Given the description of an element on the screen output the (x, y) to click on. 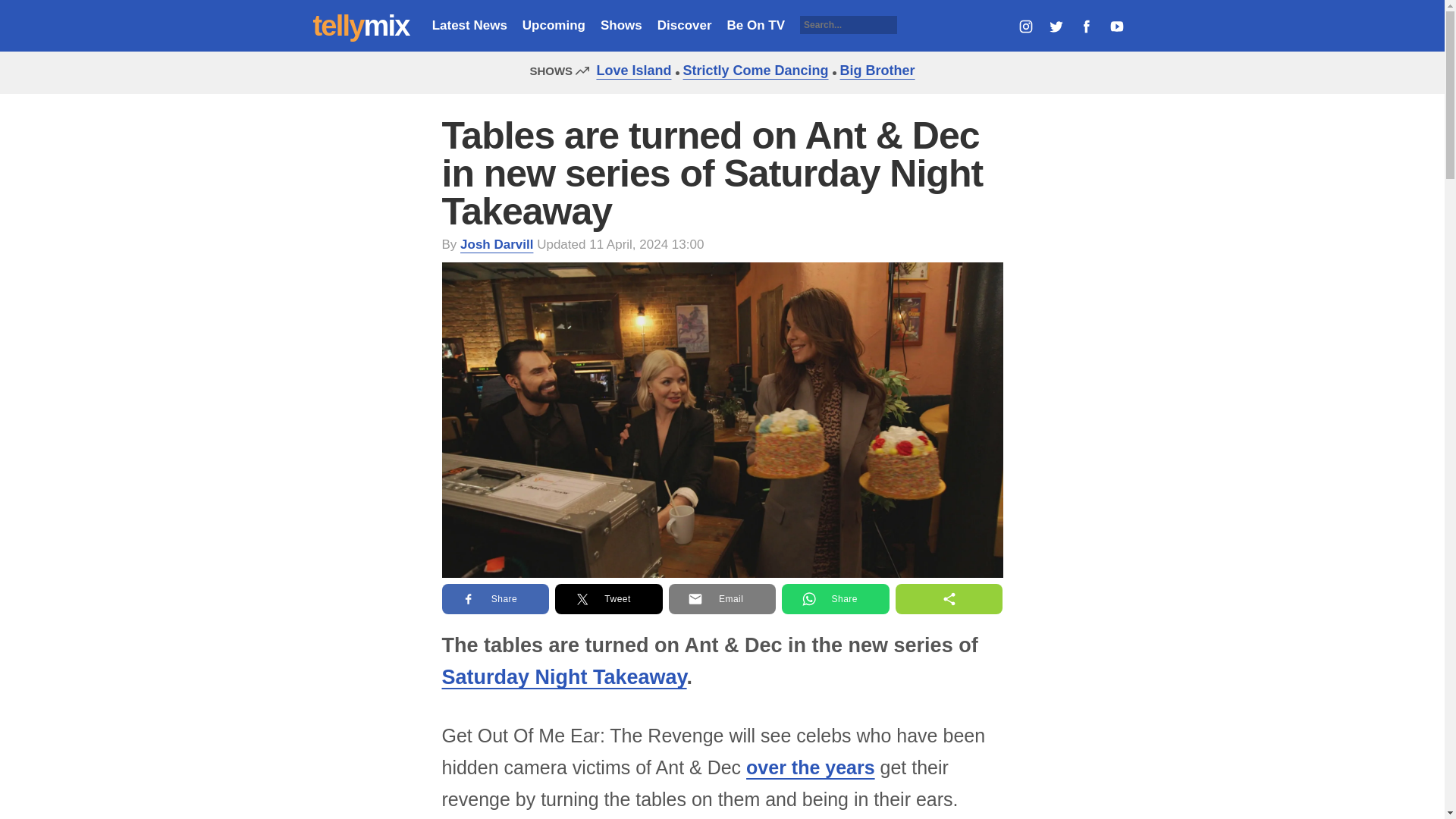
Josh Darvill (496, 244)
Shows (620, 25)
Big Brother (873, 70)
Upcoming (553, 25)
Latest News (469, 25)
over the years (810, 767)
Saturday Night Takeaway (563, 676)
Discover (684, 25)
tellymix (361, 25)
Love Island (629, 70)
Strictly Come Dancing (751, 70)
Be On TV (756, 25)
